Given the description of an element on the screen output the (x, y) to click on. 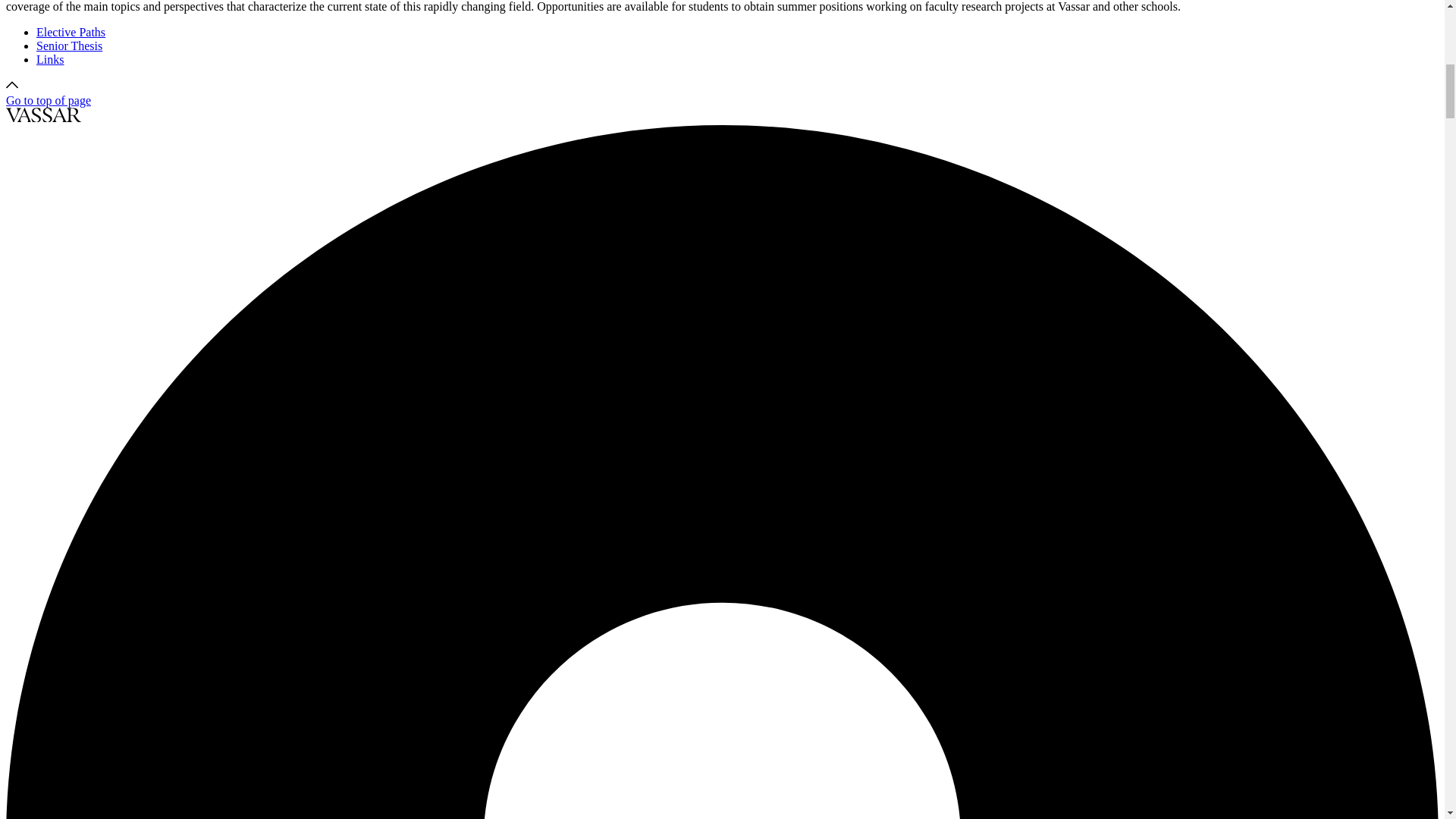
Go to top of page (47, 93)
Senior Thesis (68, 45)
Vassar (43, 114)
Vassar (43, 117)
Elective Paths (70, 31)
Links (50, 59)
